Given the description of an element on the screen output the (x, y) to click on. 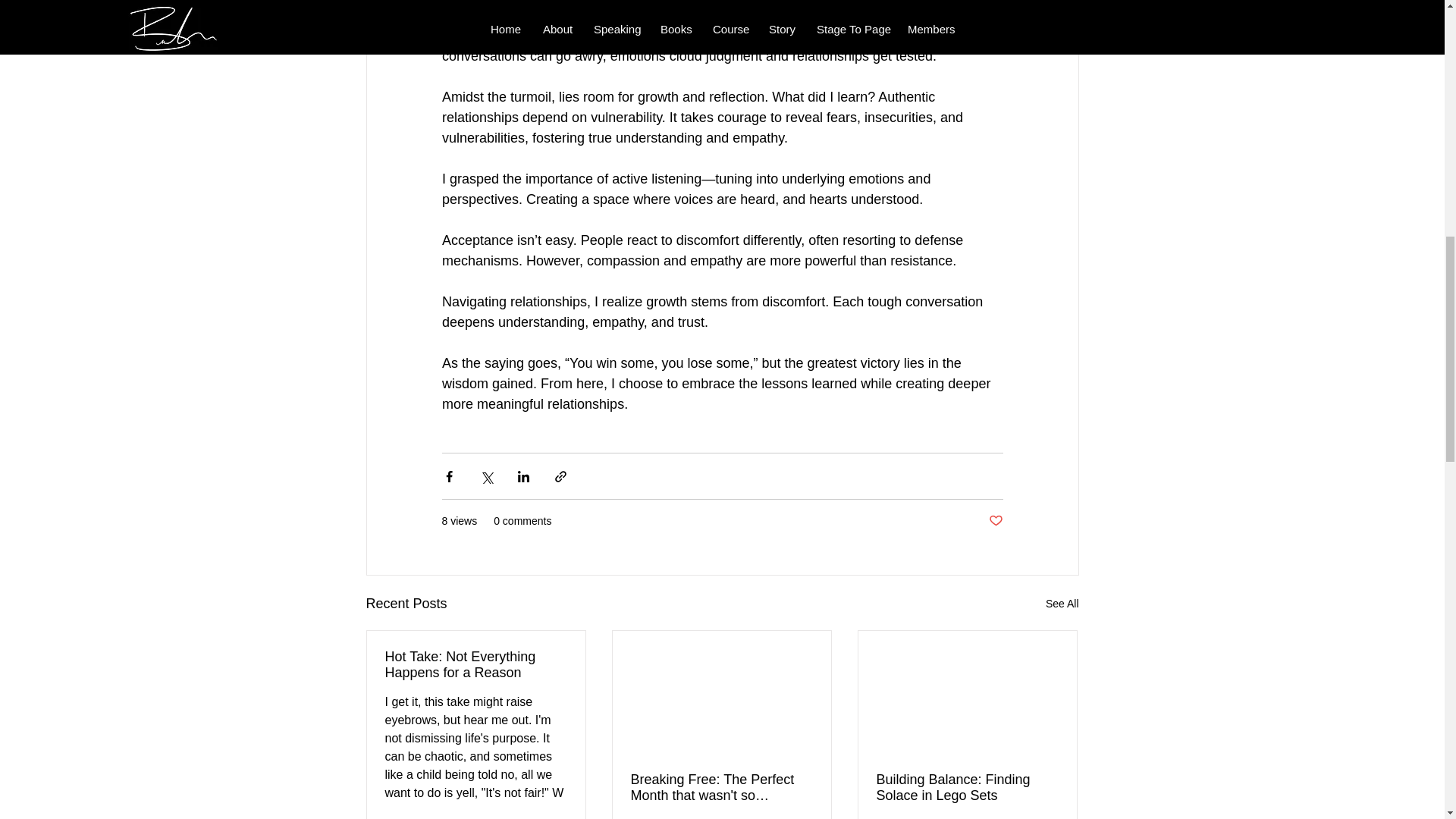
See All (1061, 603)
Hot Take: Not Everything Happens for a Reason (476, 664)
Post not marked as liked (995, 521)
Building Balance: Finding Solace in Lego Sets (967, 787)
Breaking Free: The Perfect Month that wasn't so "Perfect." (721, 787)
